Given the description of an element on the screen output the (x, y) to click on. 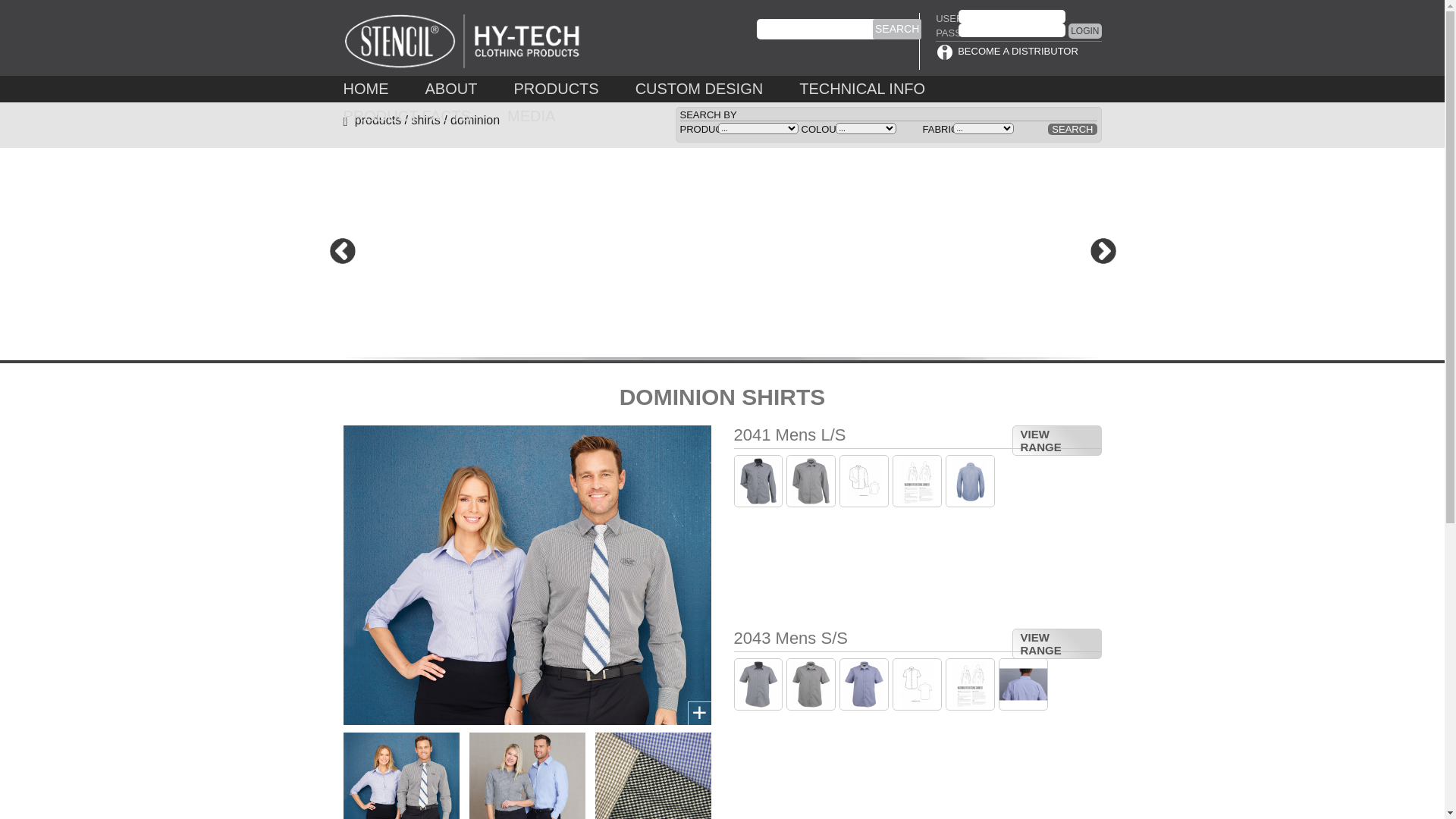
VIEW RANGE Element type: text (1056, 643)
BECOME A DISTRIBUTOR Element type: text (1017, 50)
SEARCH Element type: text (896, 28)
ABOUT Element type: text (450, 88)
CUSTOM DESIGN Element type: text (699, 88)
Measuring Tips Element type: hover (970, 684)
SEARCH Element type: text (1072, 128)
Chamoisee Element type: hover (810, 684)
products Element type: text (377, 119)
Measuring Tips Element type: hover (917, 481)
dominion Element type: text (474, 119)
VIEW RANGE Element type: text (1056, 440)
Black Element type: hover (757, 684)
Back Image Element type: hover (1023, 684)
LOGIN Element type: text (1084, 30)
Black Element type: hover (757, 481)
Back Image Element type: hover (970, 481)
+ Element type: text (699, 712)
Artline Element type: hover (917, 684)
HOME Element type: text (365, 88)
PRODUCT FACTS Element type: text (406, 115)
shirts Element type: text (425, 119)
Artline Element type: hover (864, 481)
Chamoisee Element type: hover (810, 481)
Mid Blue Element type: hover (864, 684)
TECHNICAL INFO Element type: text (862, 88)
MEDIA Element type: text (531, 115)
